Given the description of an element on the screen output the (x, y) to click on. 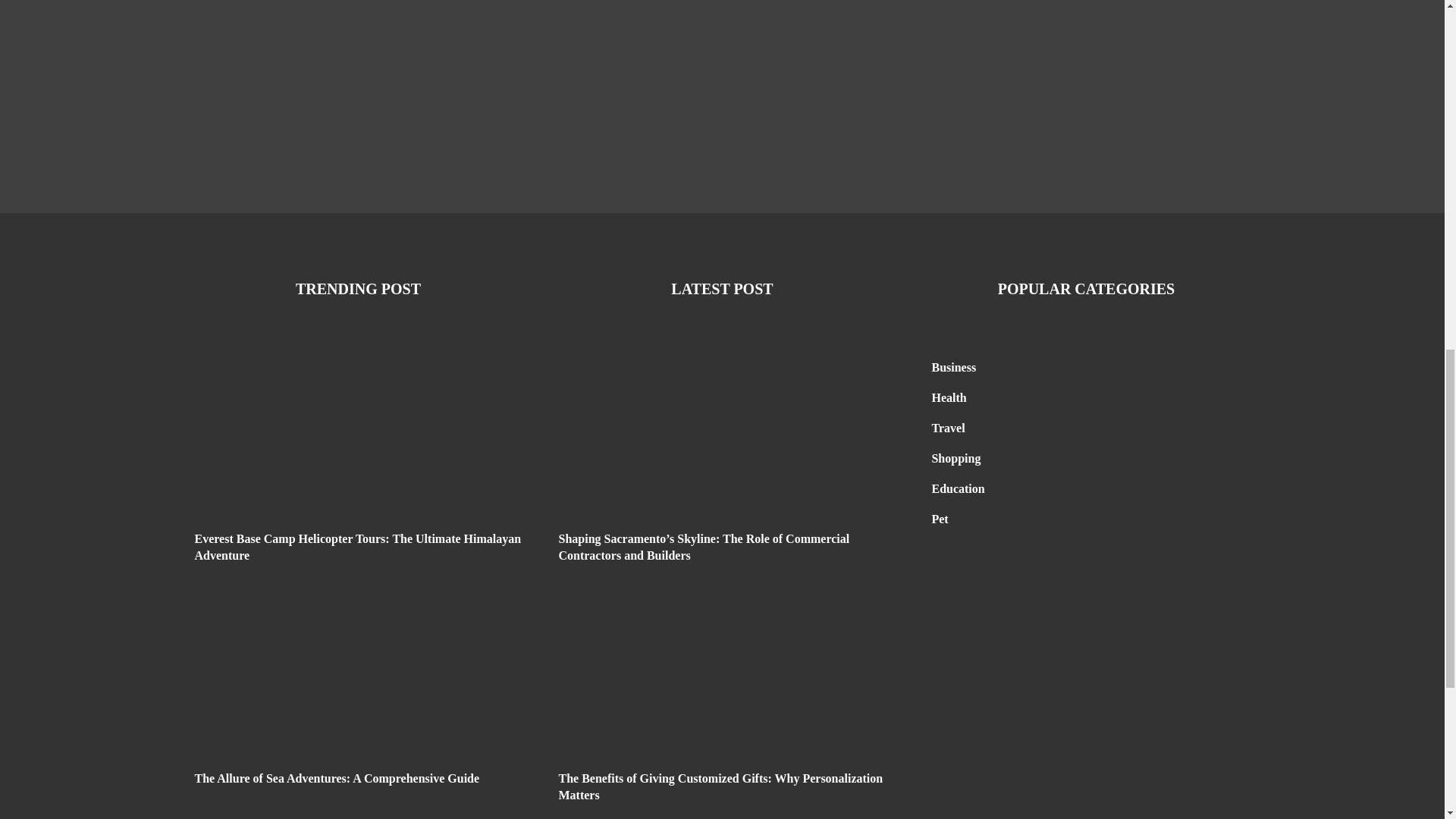
The Allure of Sea Adventures: A Comprehensive Guide (336, 778)
The Allure of Sea Adventures: A Comprehensive Guide (357, 678)
The Allure of Sea Adventures: A Comprehensive Guide (336, 778)
